Given the description of an element on the screen output the (x, y) to click on. 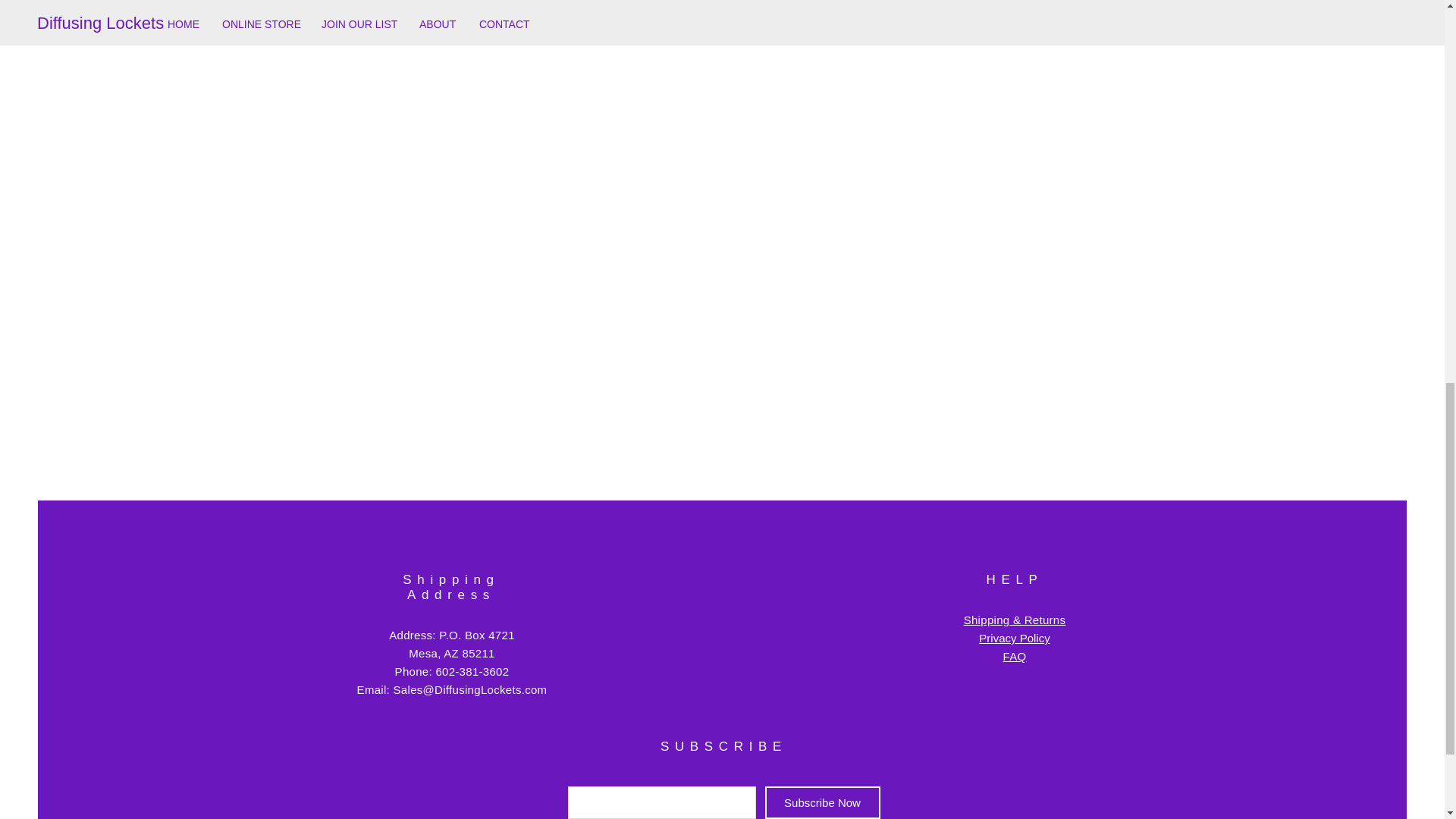
Privacy Policy (1013, 637)
FAQ (1014, 656)
Subscribe Now (821, 802)
